Given the description of an element on the screen output the (x, y) to click on. 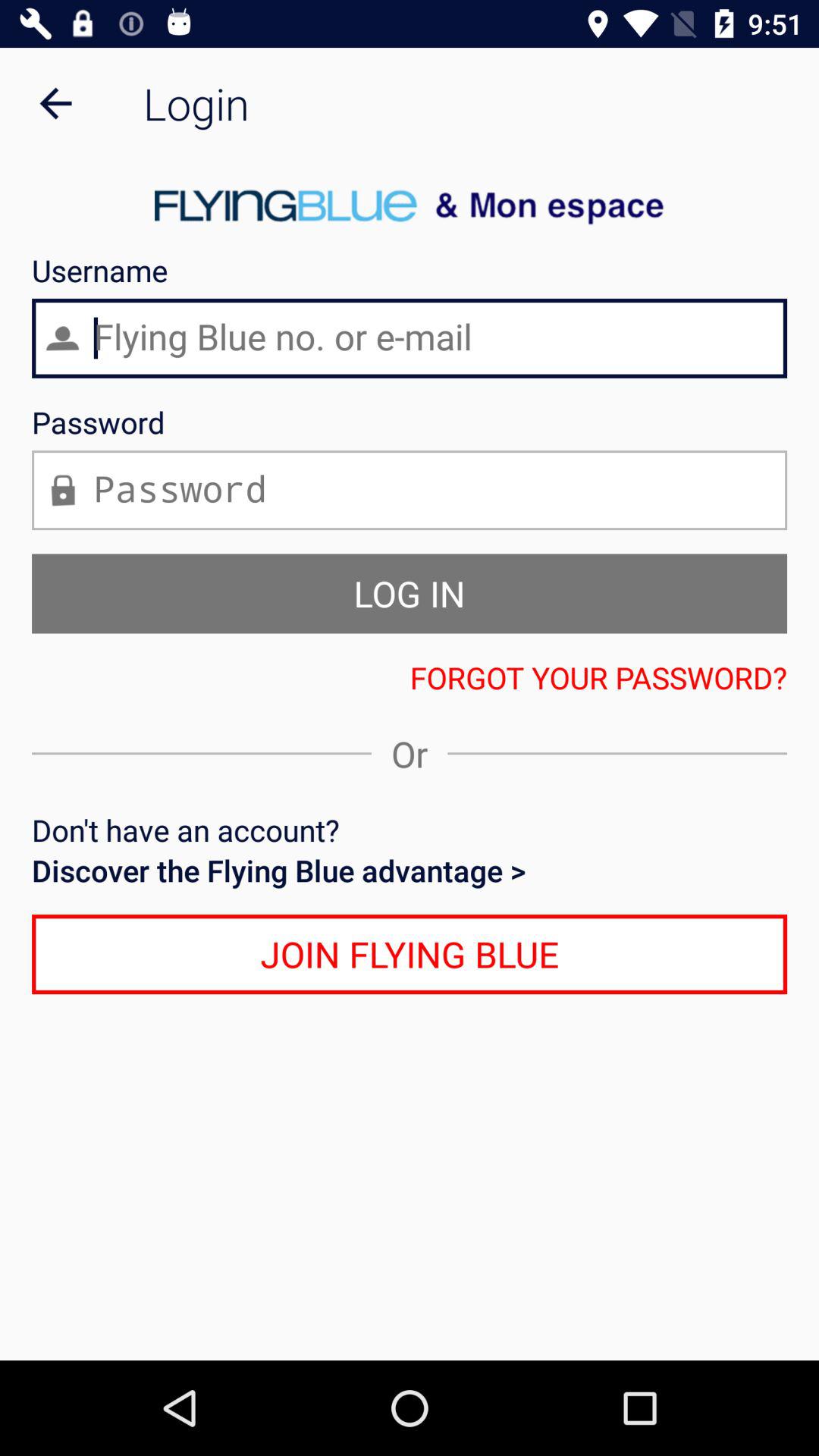
press the icon below log in icon (409, 677)
